Given the description of an element on the screen output the (x, y) to click on. 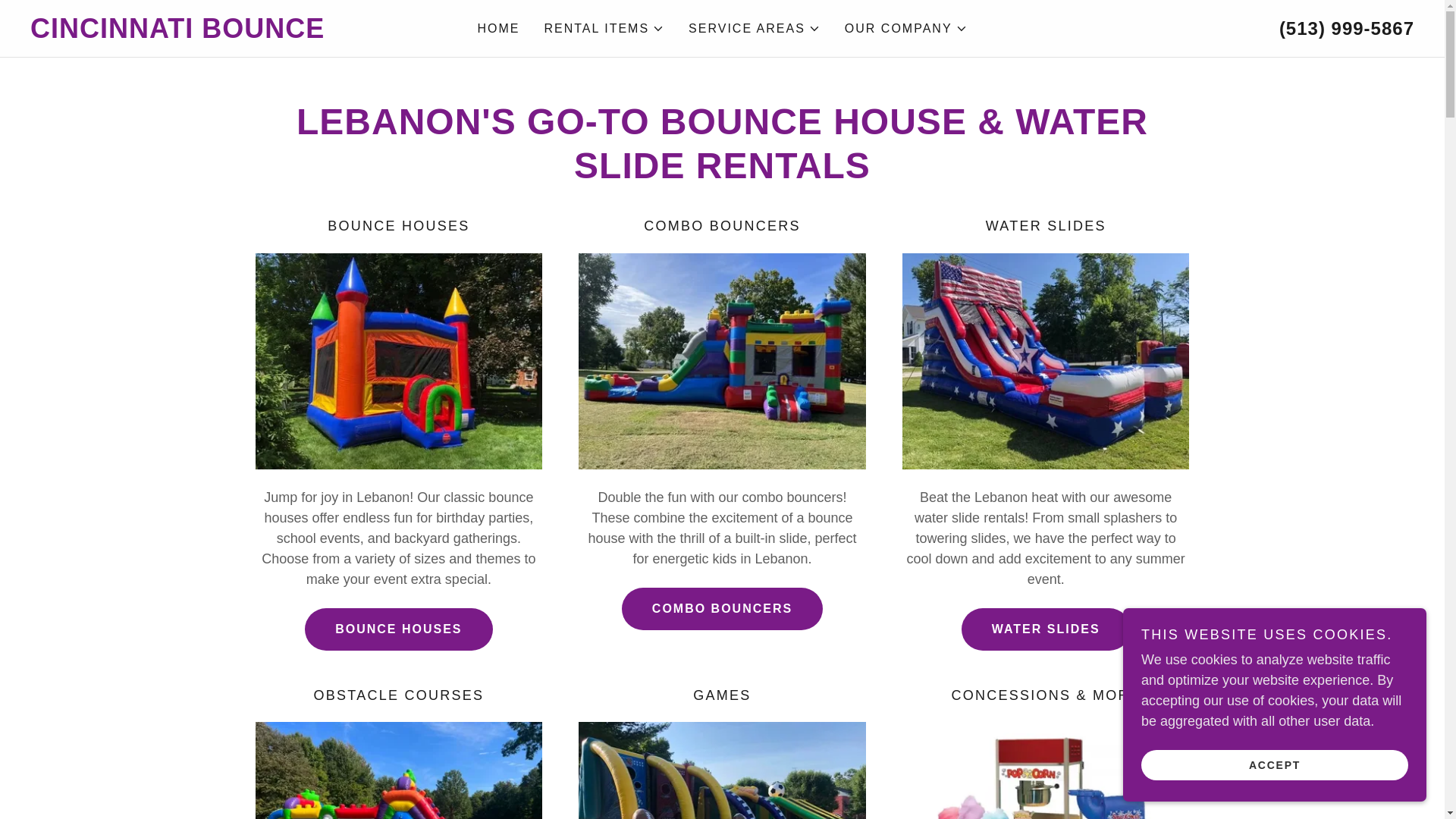
SERVICE AREAS (754, 28)
OUR COMPANY (906, 28)
HOME (497, 28)
Cincinnati Bounce (202, 32)
CINCINNATI BOUNCE (202, 32)
RENTAL ITEMS (603, 28)
